Given the description of an element on the screen output the (x, y) to click on. 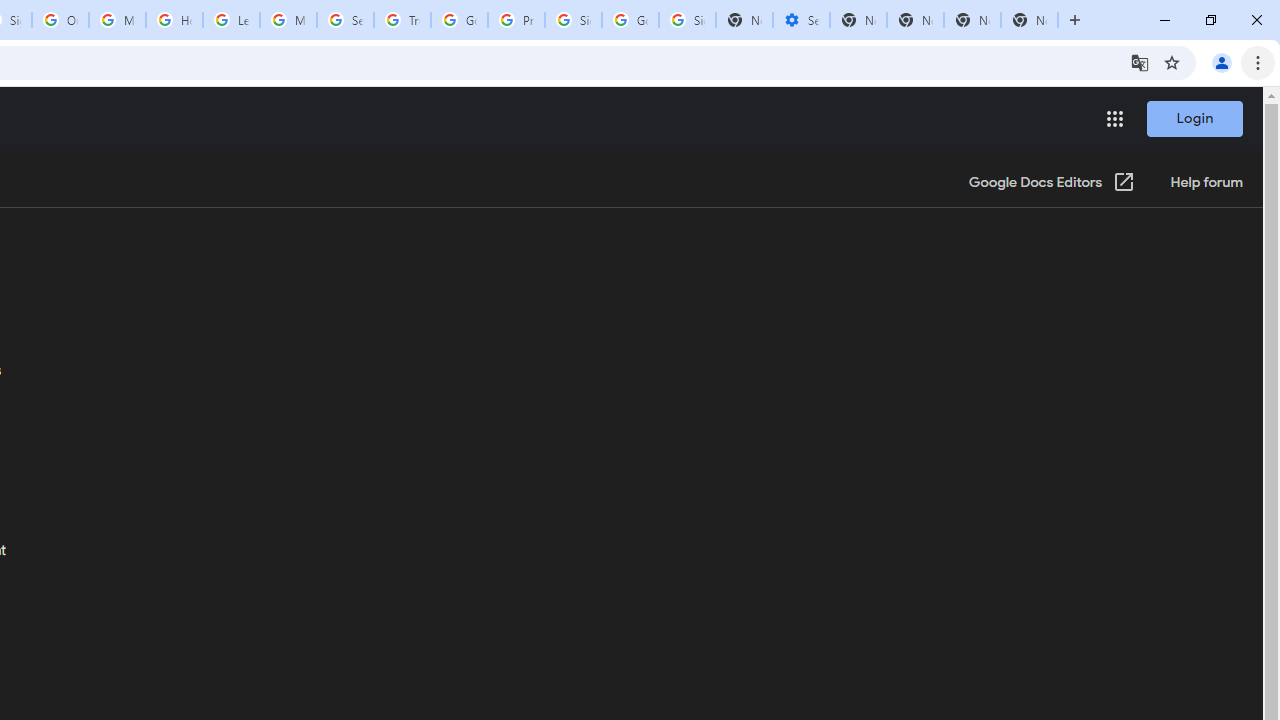
Login (1194, 118)
Help forum (1205, 183)
Minimize (1165, 20)
Close (1256, 20)
Google Cybersecurity Innovations - Google Safety Center (630, 20)
Google Docs Editors (Opens in new window) (1051, 183)
New Tab (1075, 20)
Sign in - Google Accounts (573, 20)
Sign in - Google Accounts (687, 20)
Trusted Information and Content - Google Safety Center (402, 20)
